Given the description of an element on the screen output the (x, y) to click on. 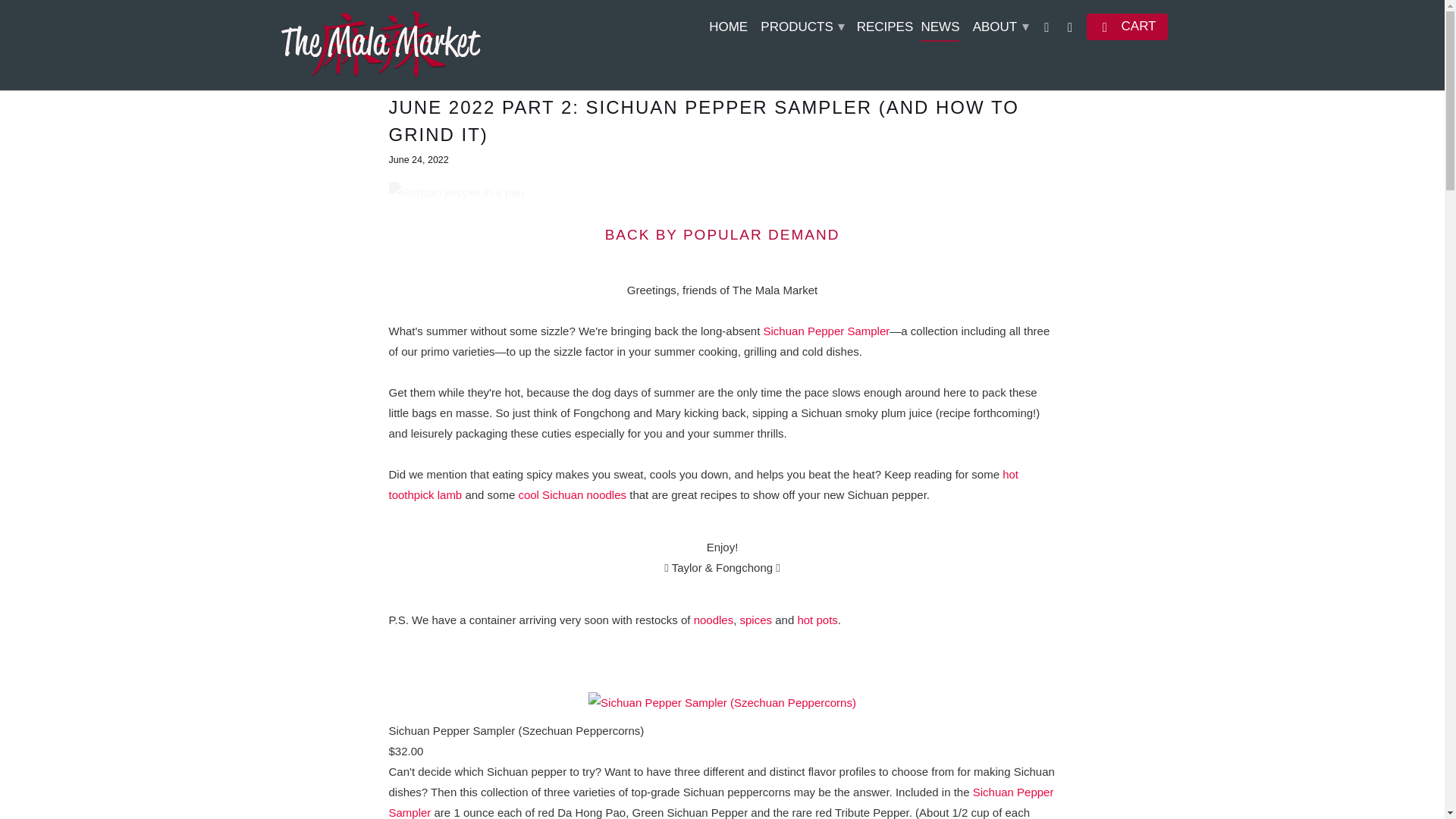
hot pots (816, 619)
Sichuan Pepper Sampler (825, 330)
hot toothpick lamb (702, 484)
cool Sichuan noodles (572, 494)
noodles (713, 619)
Sichuan Pepper Sampler (720, 802)
spices (756, 619)
